Given the description of an element on the screen output the (x, y) to click on. 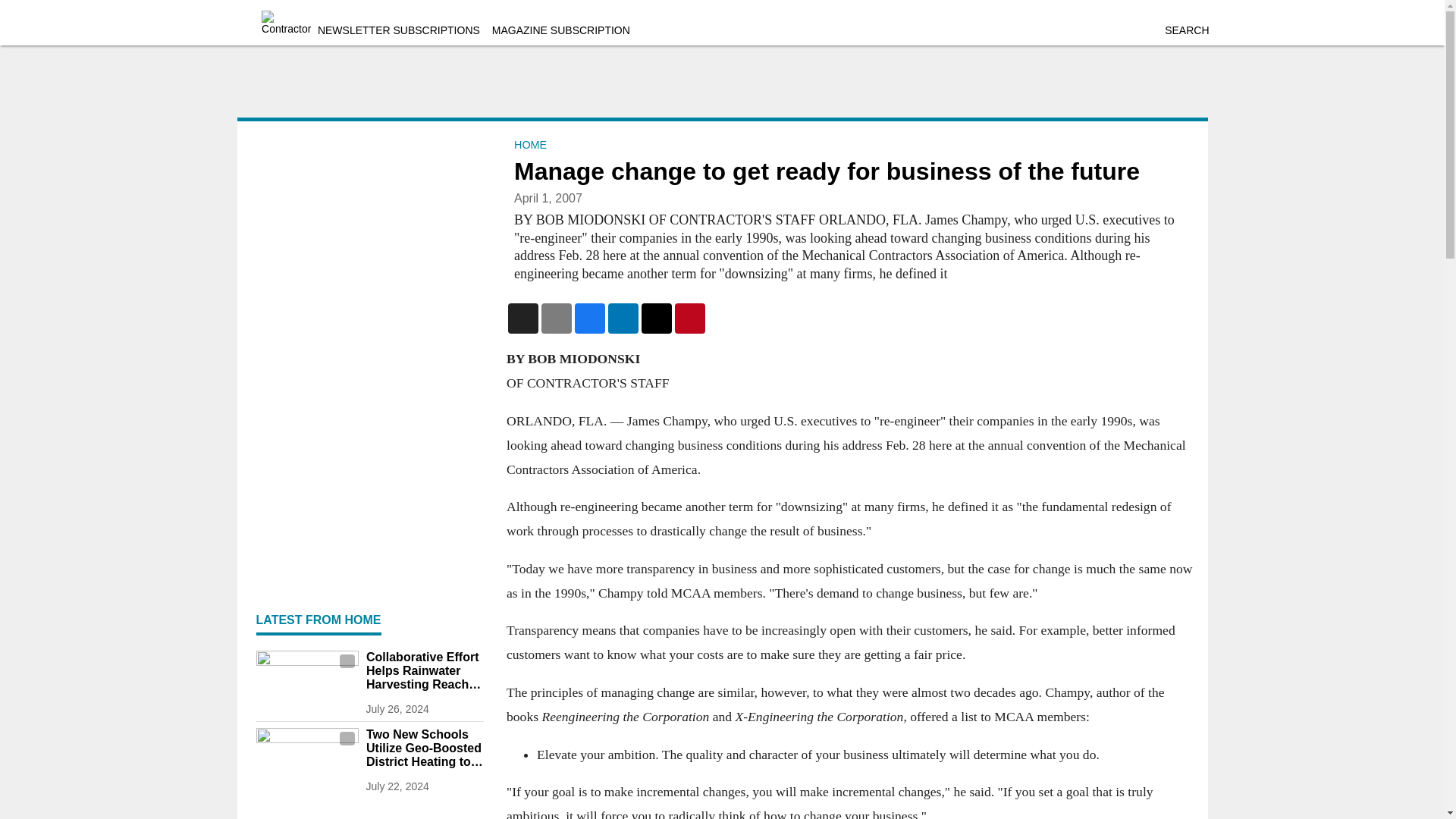
HOME (530, 144)
MAGAZINE SUBSCRIPTION (561, 30)
SEARCH (1186, 30)
NEWSLETTER SUBSCRIPTIONS (398, 30)
